Given the description of an element on the screen output the (x, y) to click on. 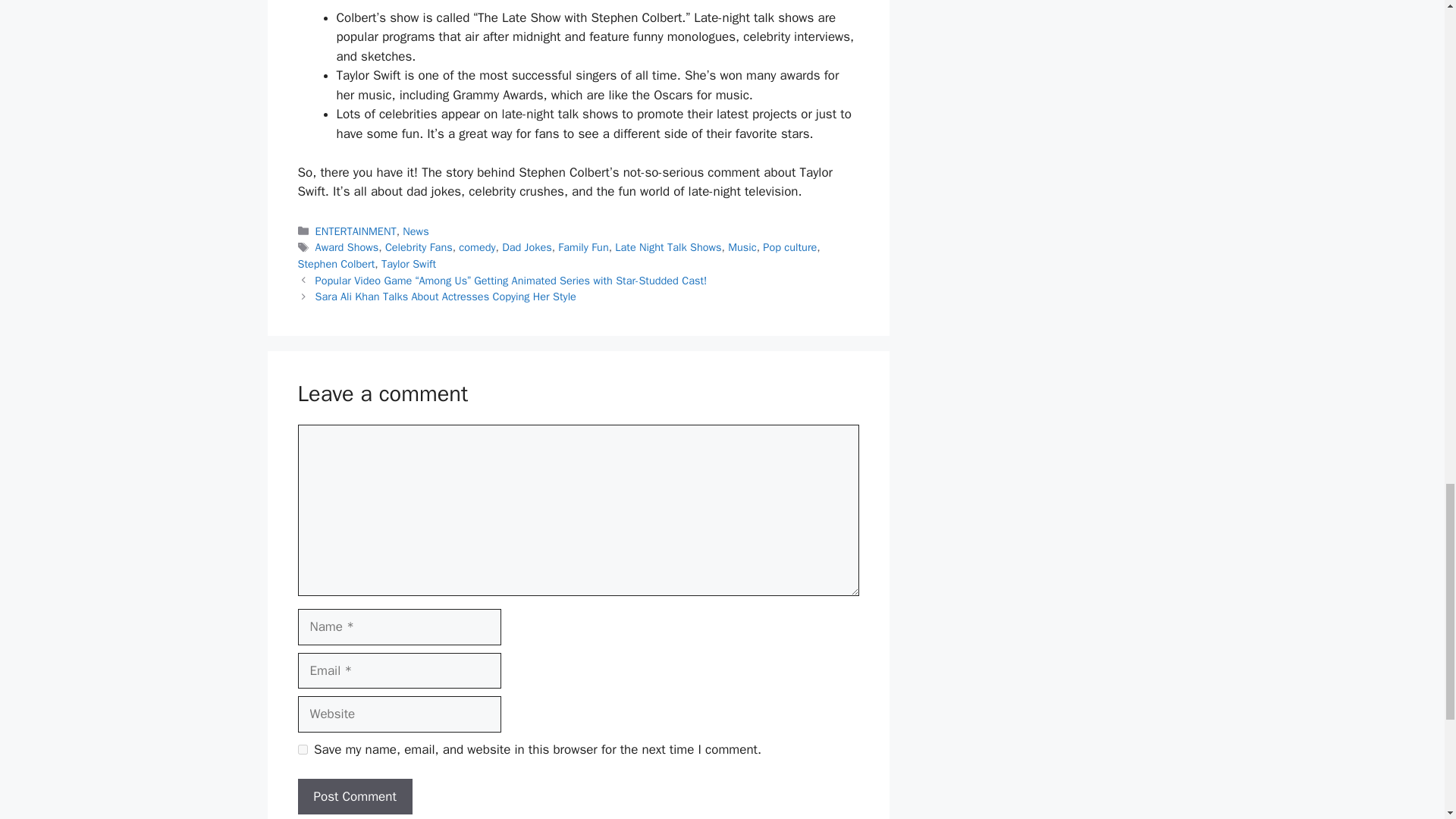
Family Fun (582, 246)
Sara Ali Khan Talks About Actresses Copying Her Style (445, 296)
Stephen Colbert (335, 264)
Music (742, 246)
Award Shows (346, 246)
Dad Jokes (526, 246)
Late Night Talk Shows (667, 246)
Post Comment (354, 796)
Pop culture (789, 246)
comedy (476, 246)
yes (302, 749)
ENTERTAINMENT (355, 231)
Taylor Swift (408, 264)
News (415, 231)
Post Comment (354, 796)
